Given the description of an element on the screen output the (x, y) to click on. 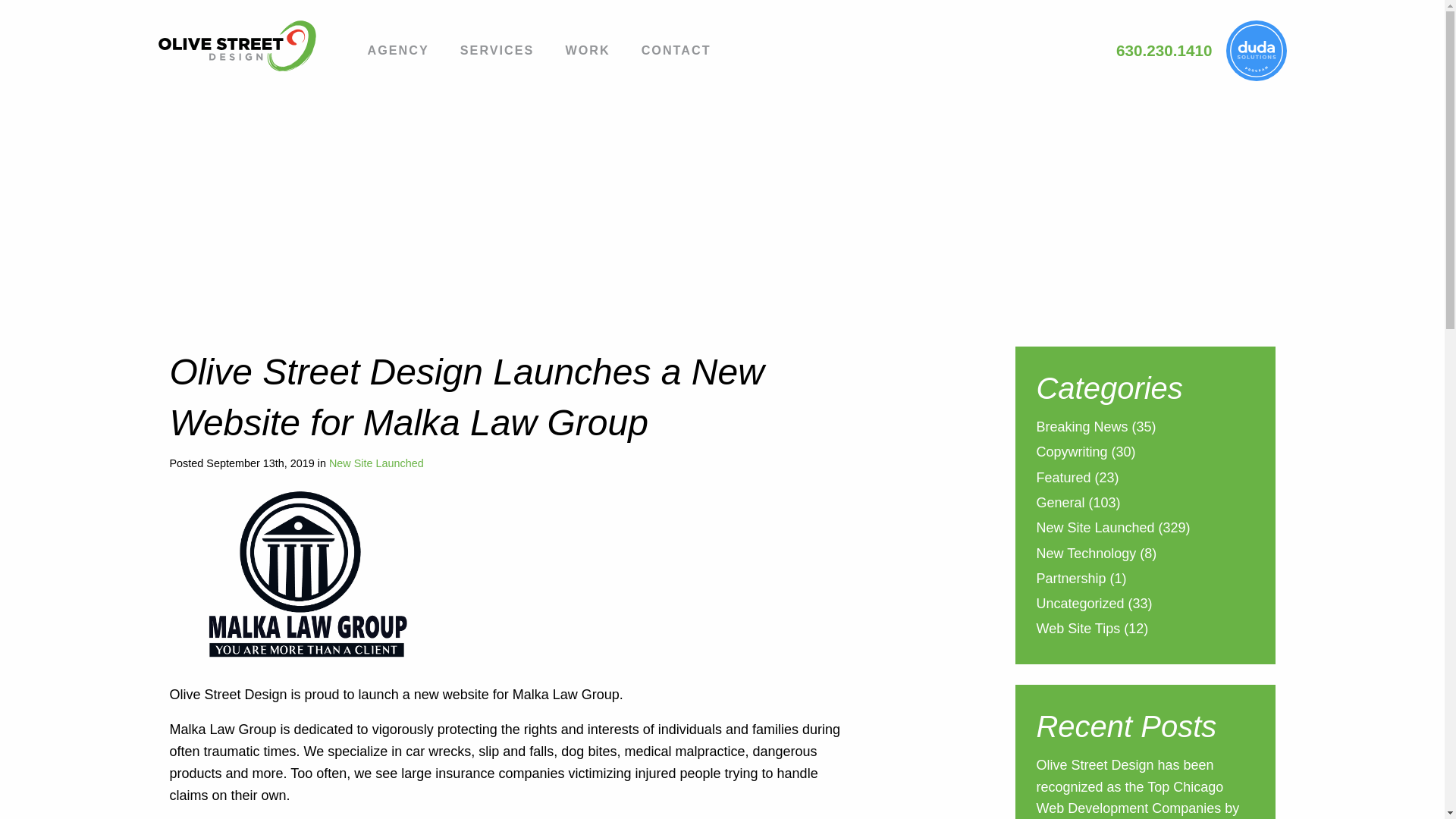
AGENCY (397, 52)
Olive Street Design (248, 45)
630.230.1410 (1164, 49)
New Site Launched (376, 463)
Partnership (1070, 579)
General (1059, 504)
CONTACT (676, 52)
Breaking News (1080, 428)
Web Site Tips (1077, 629)
